Given the description of an element on the screen output the (x, y) to click on. 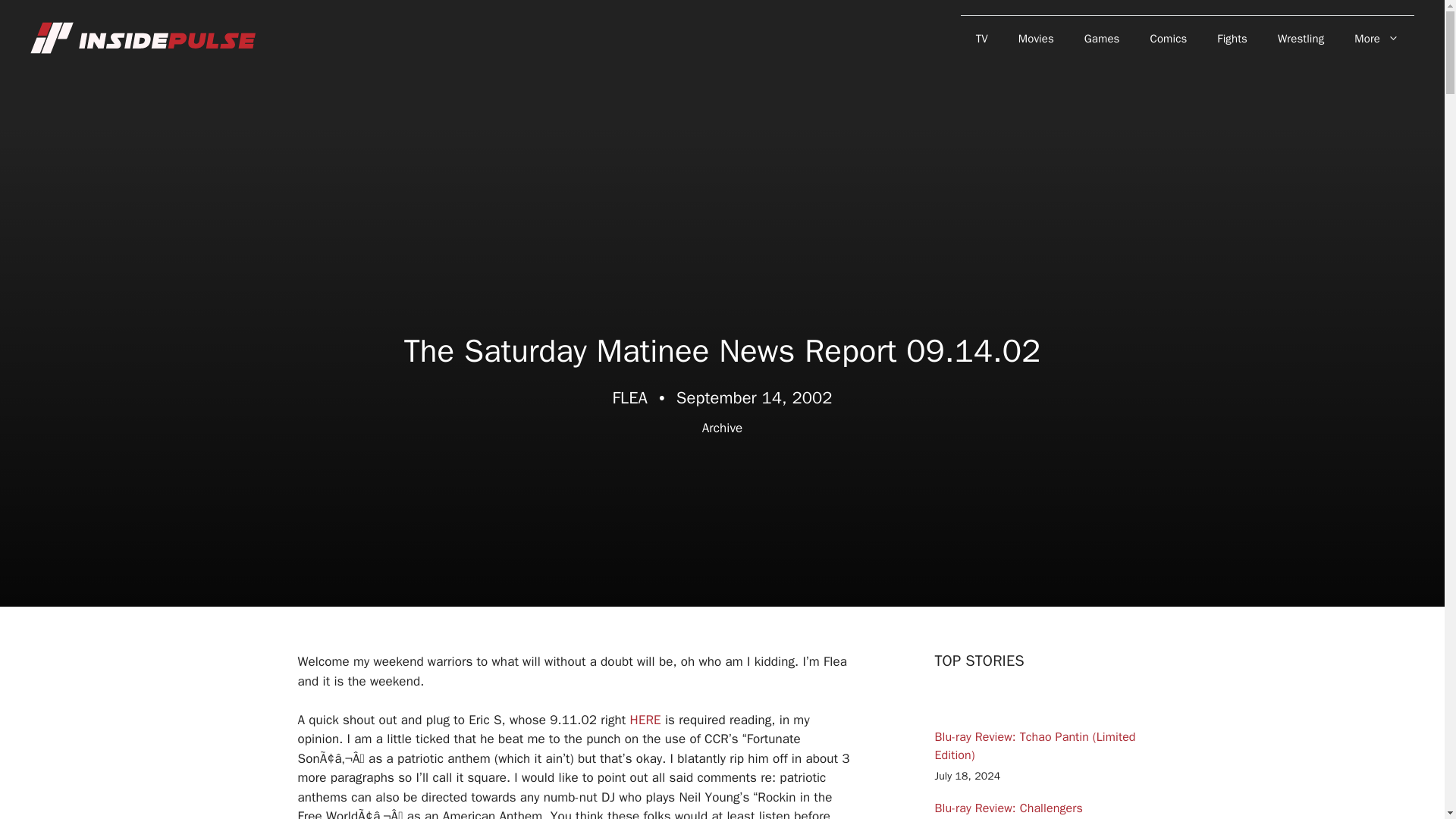
Fights (1232, 38)
Comics (1168, 38)
Wrestling (1300, 38)
Inside Pulse (143, 38)
Inside Pulse (143, 37)
Games (1101, 38)
FLEA (629, 397)
HERE (645, 719)
TV (981, 38)
More (1376, 38)
Movies (1035, 38)
